Given the description of an element on the screen output the (x, y) to click on. 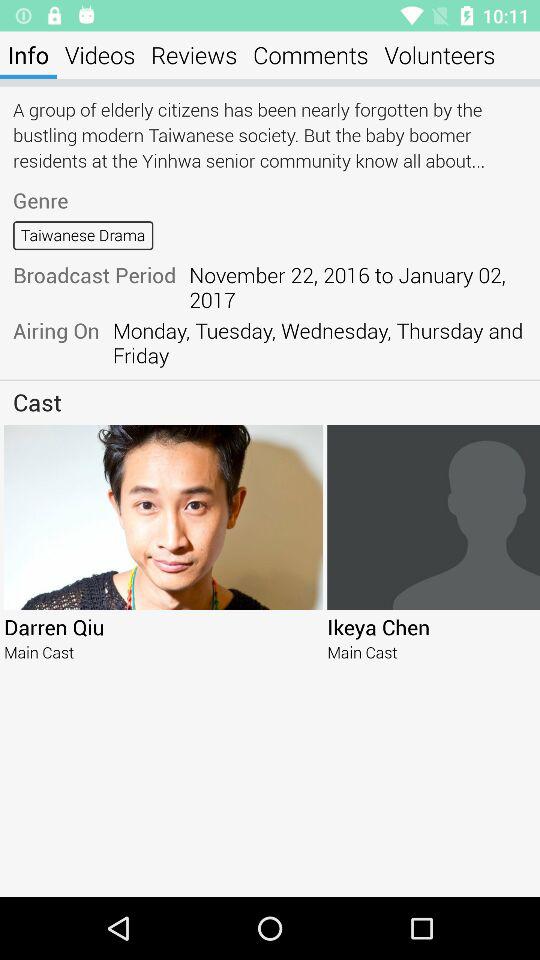
turn off icon to the right of the comments (439, 54)
